Given the description of an element on the screen output the (x, y) to click on. 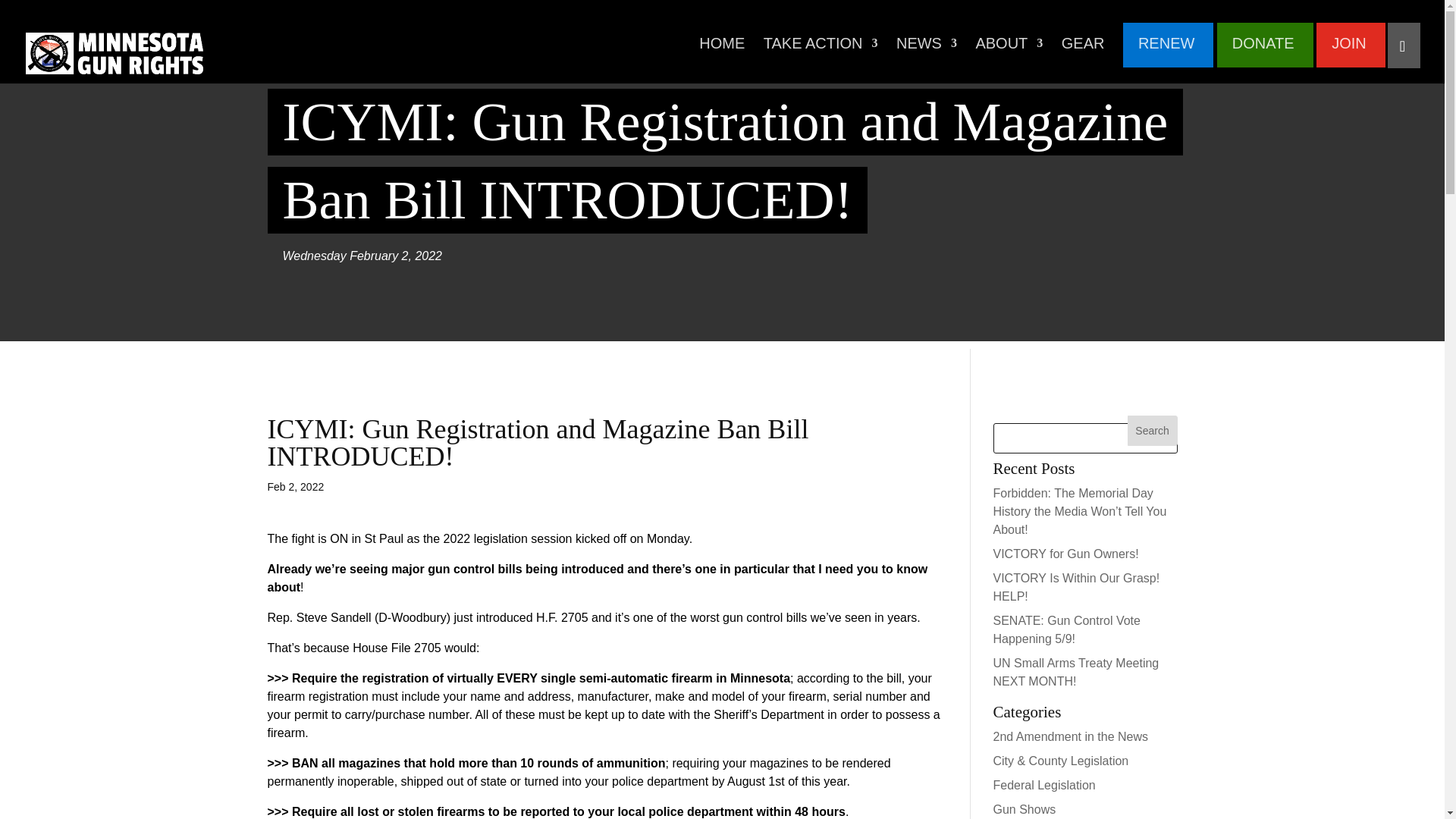
JOIN (1349, 52)
NEWS (926, 52)
GEAR (1083, 52)
Gun Shows (1024, 809)
Federal Legislation (1044, 784)
ABOUT (1008, 52)
2nd Amendment in the News (1070, 736)
Search (1151, 430)
HOME (721, 52)
VICTORY for Gun Owners! (1065, 553)
